Given the description of an element on the screen output the (x, y) to click on. 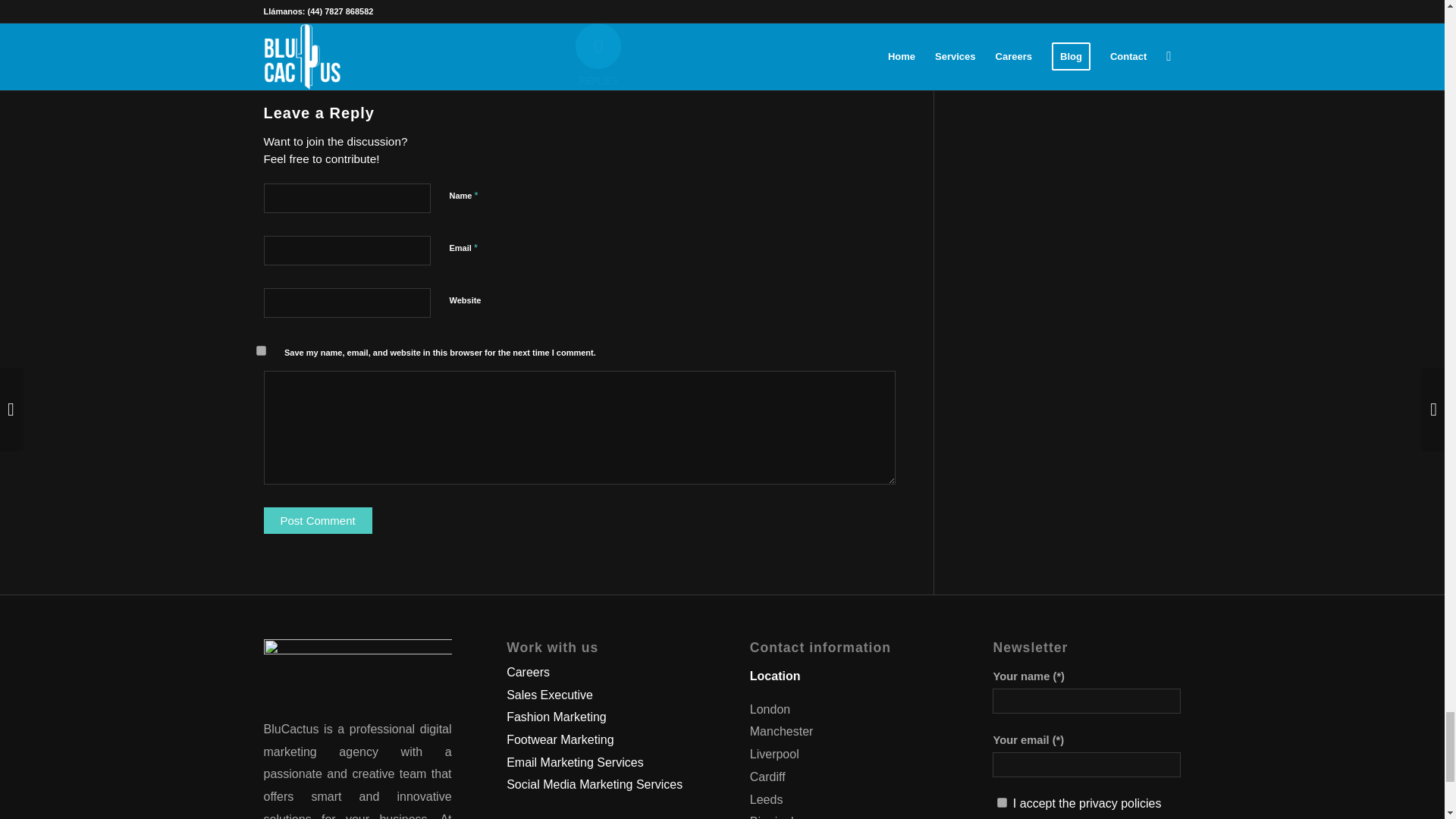
yes (261, 350)
1 (1002, 802)
Post Comment (317, 519)
